Given the description of an element on the screen output the (x, y) to click on. 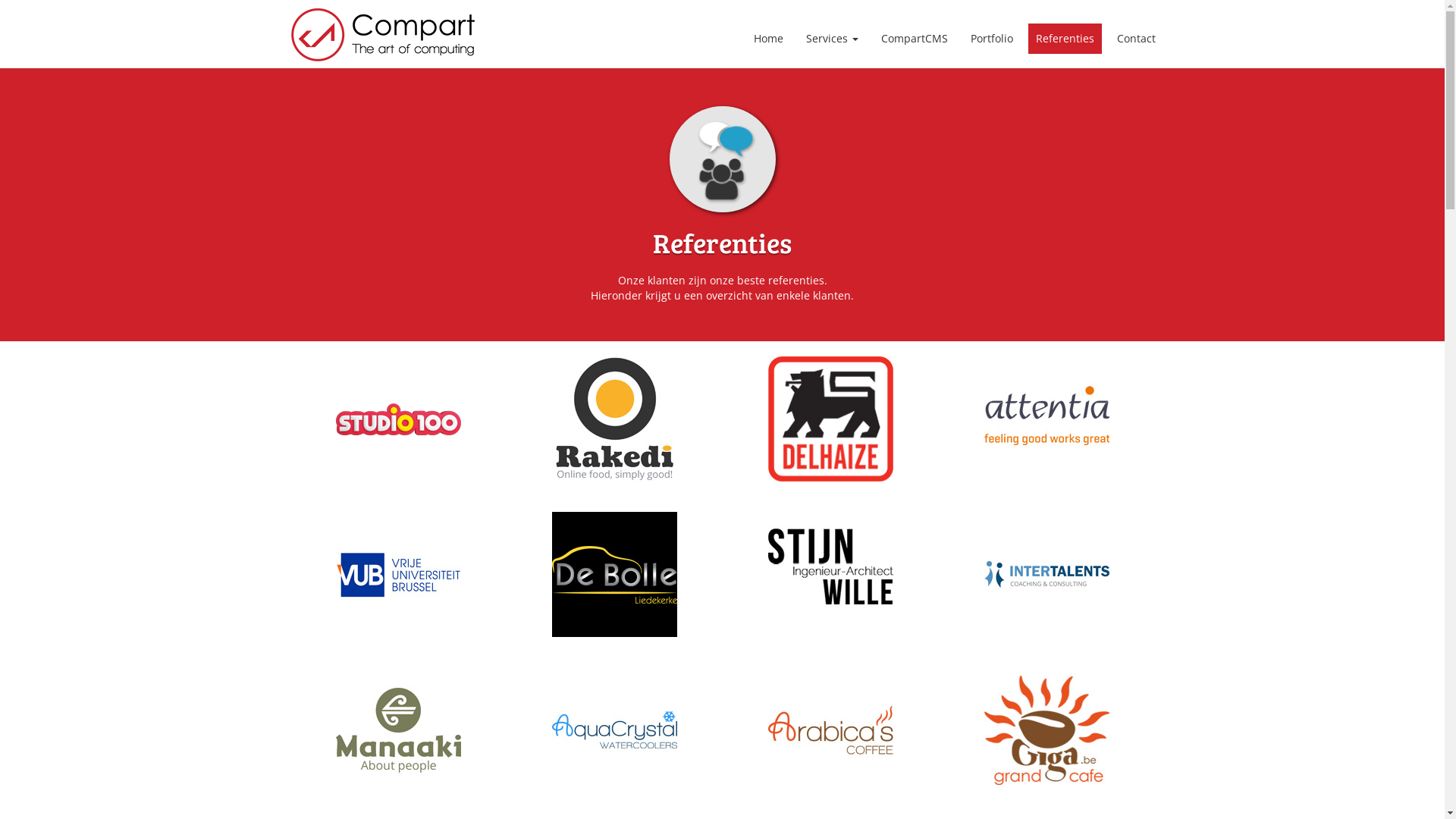
Services Element type: text (831, 38)
Vrije Universiteit Brussel Element type: hover (397, 574)
Giga Services Element type: hover (1046, 729)
Opel De Bolle Element type: hover (614, 572)
Portfolio Element type: text (991, 38)
Arabica's Element type: hover (829, 728)
AD Delhaize Lede Element type: hover (829, 418)
Onze klanten Element type: hover (721, 159)
Arabica's Element type: hover (829, 729)
Studio100 Element type: hover (397, 418)
Manaaki Element type: hover (397, 728)
Referenties Element type: text (1064, 38)
Attentia Element type: hover (1046, 417)
Opel De Bolle Element type: hover (614, 574)
Rakedi Element type: hover (614, 418)
Home Element type: text (768, 38)
Intertalents Element type: hover (1046, 574)
Compart Element type: hover (382, 30)
Studio100 Element type: hover (397, 417)
Giga Services Element type: hover (1046, 728)
Aquacrystal Element type: hover (614, 729)
Manaaki Element type: hover (397, 729)
AD Delhaize Lede Element type: hover (829, 417)
Contact Element type: text (1135, 38)
Attentia Element type: hover (1046, 418)
Rakedi Element type: hover (614, 417)
Aquacrystal Element type: hover (614, 728)
Stijn Wille Element type: hover (829, 574)
CompartCMS Element type: text (914, 38)
